Given the description of an element on the screen output the (x, y) to click on. 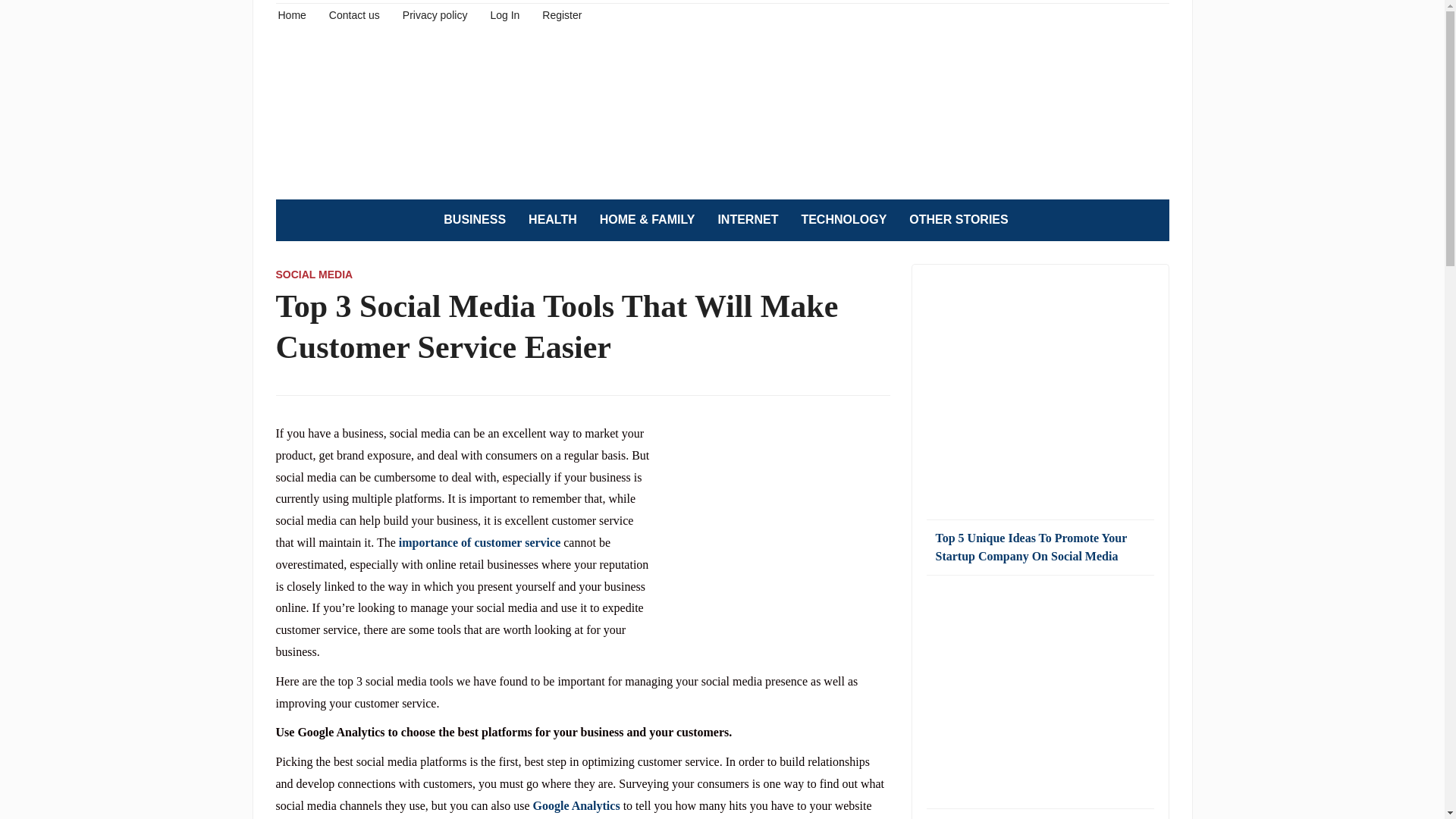
Log In (504, 14)
Home (291, 14)
Search (1149, 219)
Contact us (354, 14)
Privacy policy (435, 14)
Register (560, 14)
